Given the description of an element on the screen output the (x, y) to click on. 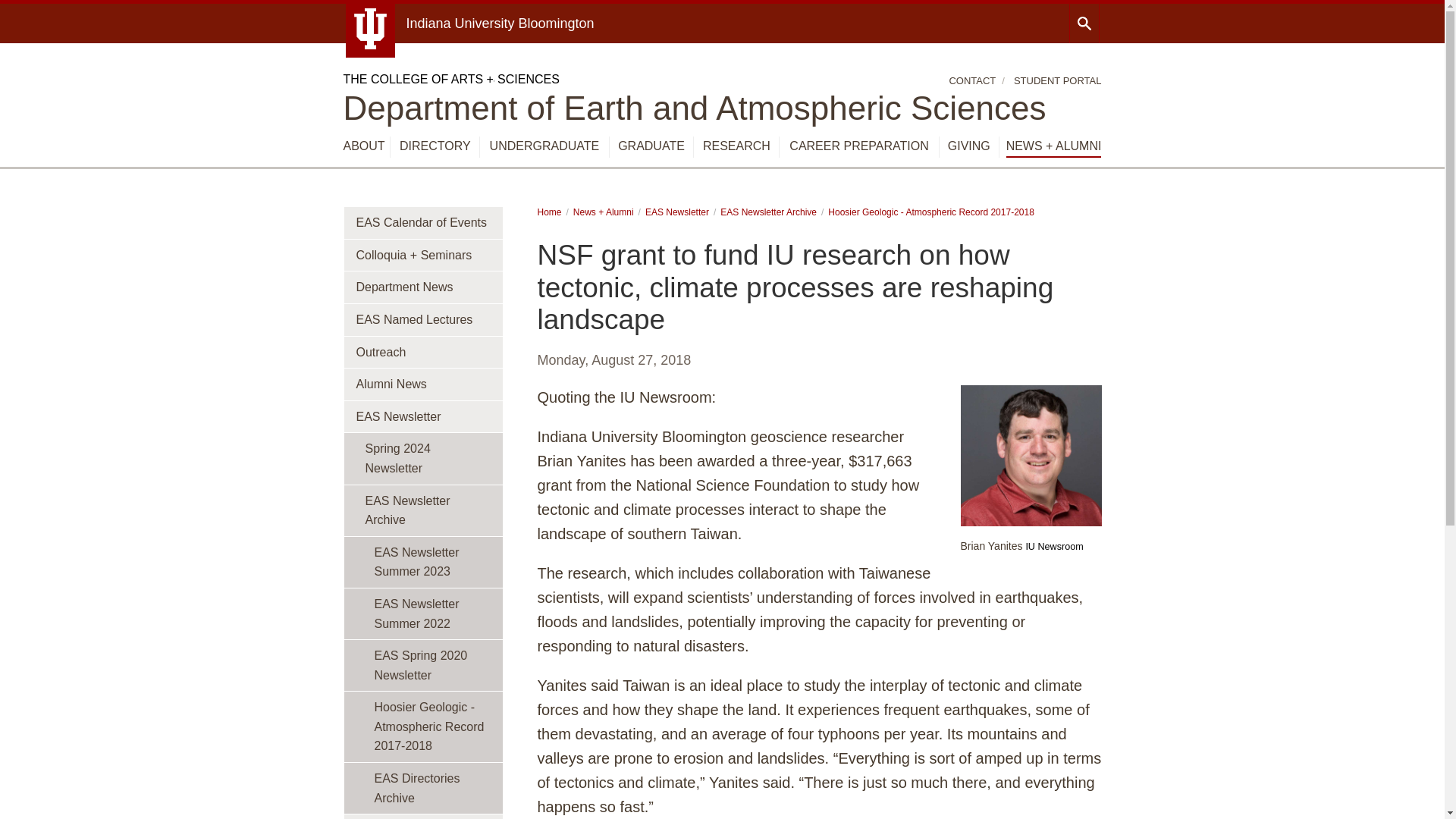
ABOUT (363, 146)
UNDERGRADUATE (544, 146)
Department of Earth and Atmospheric Sciences (693, 107)
Indiana University Bloomington (500, 23)
Indiana University Bloomington (500, 23)
DIRECTORY (434, 146)
